Given the description of an element on the screen output the (x, y) to click on. 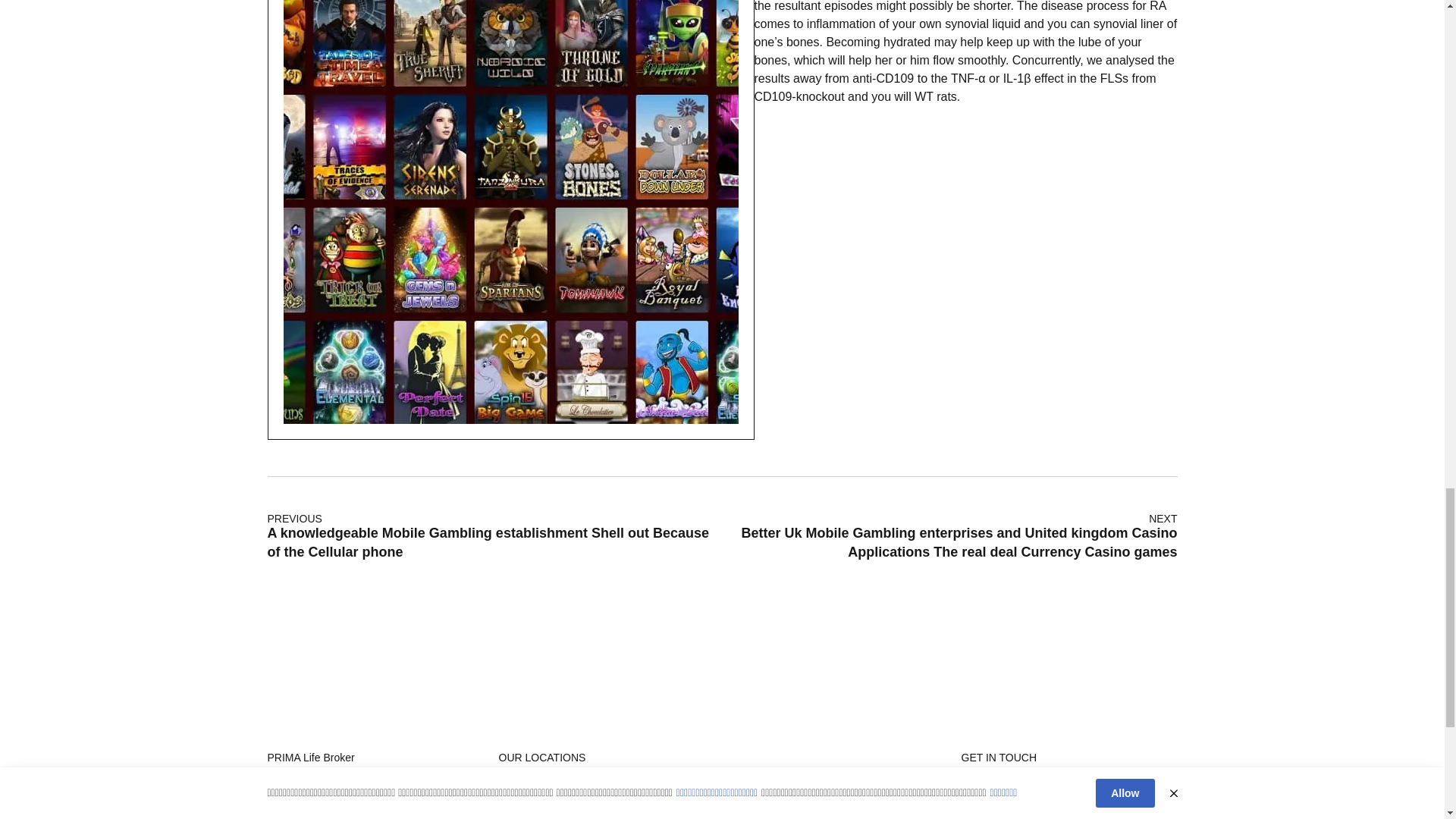
Mao (606, 806)
